Given the description of an element on the screen output the (x, y) to click on. 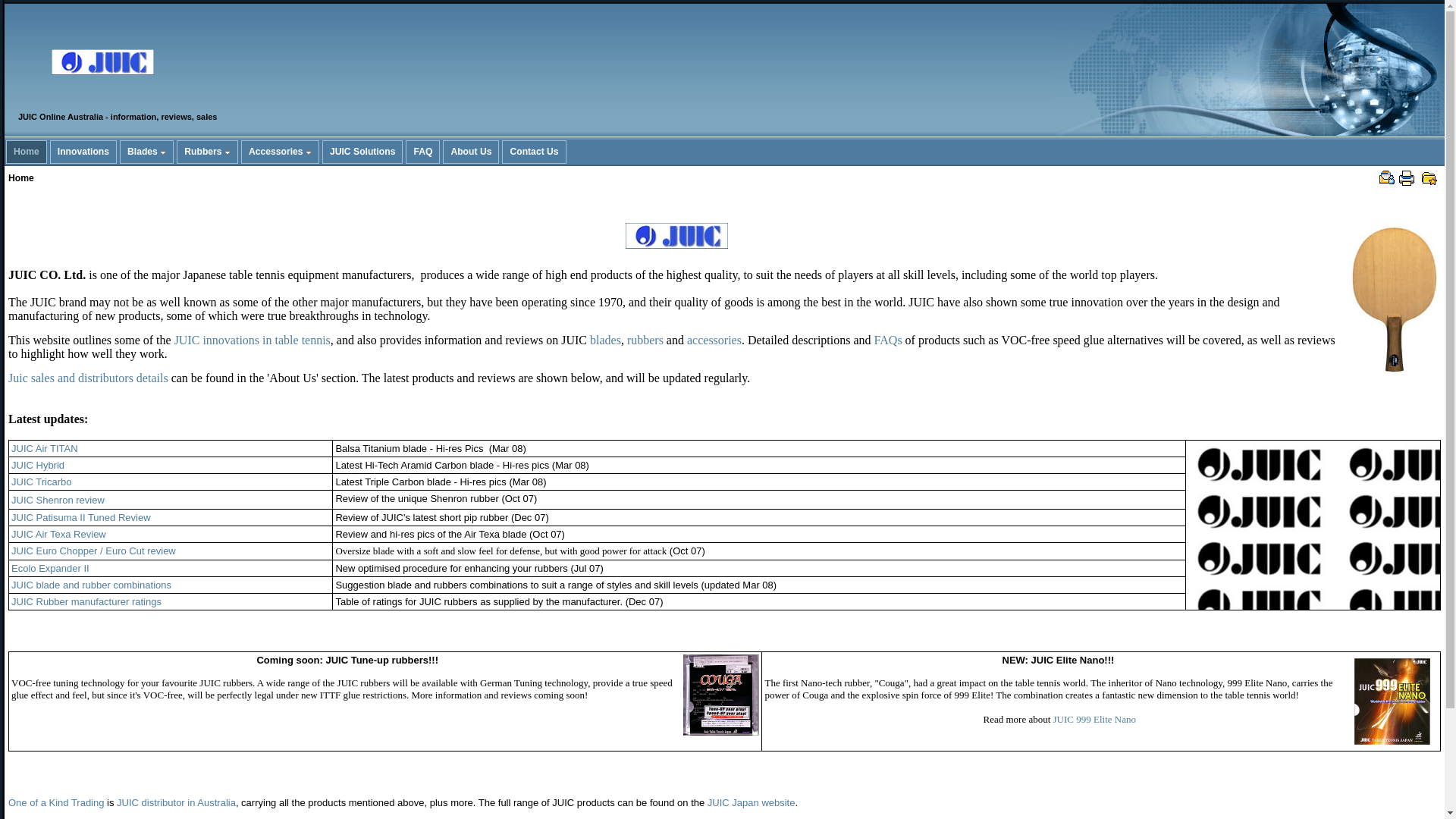
JUIC Patisuma II Tuned Review Element type: text (80, 517)
One of a Kind Trading Element type: text (55, 802)
JUIC blade and rubber combinations  Element type: text (92, 584)
Juic sales and distributors details Element type: text (88, 377)
blades Element type: text (605, 339)
JUIC Tricarbo Element type: text (41, 481)
JUIC Hybrid Element type: text (37, 464)
Email a Page to a Friend Element type: hover (1386, 177)
FAQ Element type: text (422, 152)
About Us Element type: text (470, 152)
JUIC Shenron review Element type: text (57, 498)
Home Element type: text (26, 152)
accessories Element type: text (714, 339)
JUIC Kiso Hinoki Element type: hover (1394, 298)
Add to Favorite Element type: hover (1429, 177)
JUIC Air TITAN Element type: text (44, 448)
JUIC Euro Chopper / Euro Cut review Element type: text (93, 550)
JUIC Japan website Element type: text (751, 802)
rubbers Element type: text (645, 339)
JUIC Air Texa Review  Element type: text (59, 533)
JUIC Couga Tune-up Element type: hover (721, 694)
Rubbers  Element type: text (207, 152)
Ecolo Expander II Element type: text (50, 568)
JUIC innovations in table tennis Element type: text (252, 339)
Contact Us Element type: text (533, 152)
JUIC 999 Elite Nano Element type: text (1094, 718)
Blades  Element type: text (146, 152)
JUIC Solutions Element type: text (362, 152)
Print this page Element type: hover (1406, 177)
FAQs Element type: text (888, 339)
Accessories  Element type: text (279, 152)
Innovations Element type: text (83, 152)
JUIC distributor in Australia Element type: text (175, 802)
JUIC Rubber manufacturer ratings  Element type: text (87, 601)
